Given the description of an element on the screen output the (x, y) to click on. 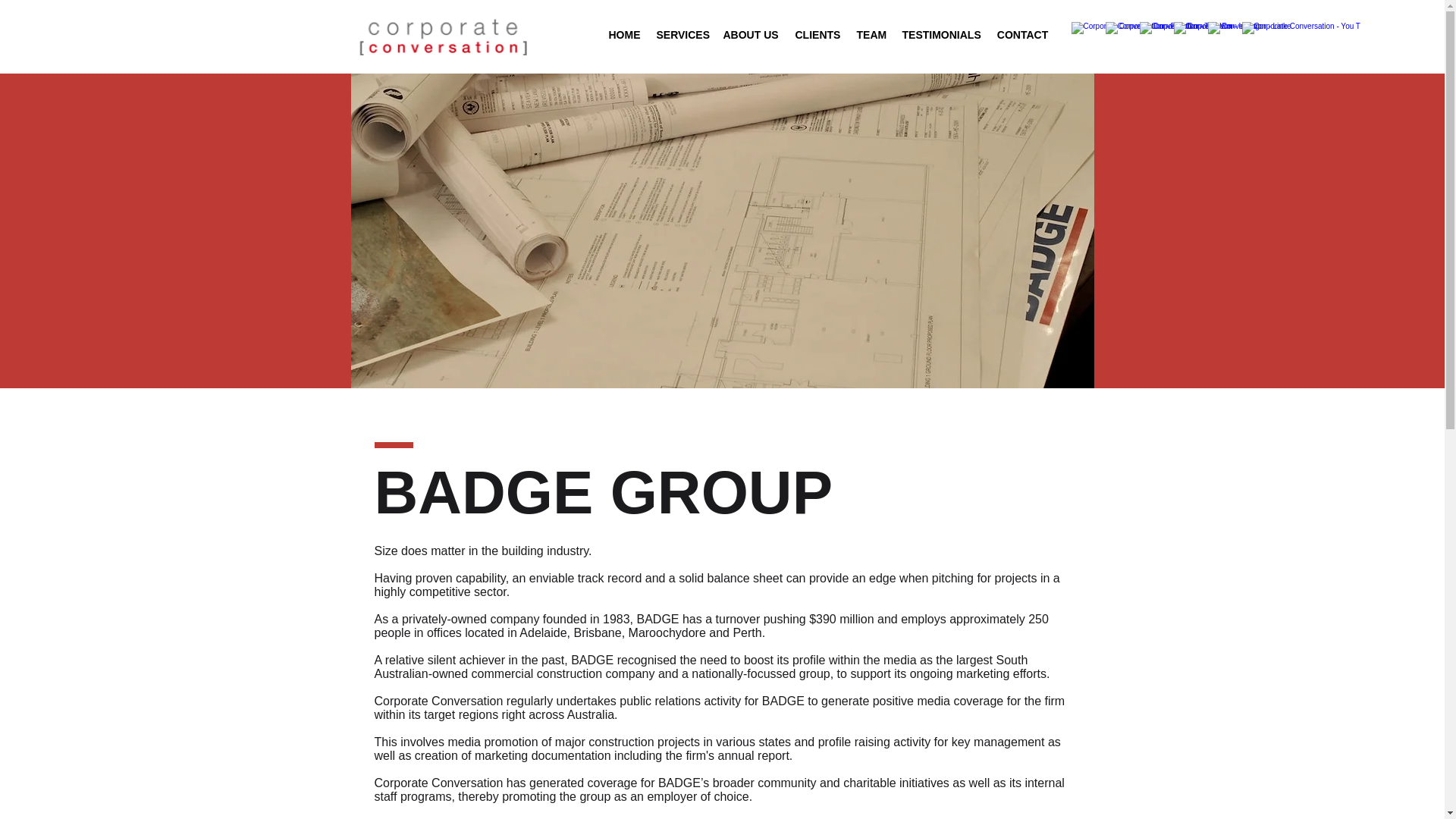
SERVICES (680, 34)
CLIENTS (817, 34)
TEAM (870, 34)
HOME (623, 34)
TESTIMONIALS (940, 34)
CONTACT (1022, 34)
ABOUT US (750, 34)
